Given the description of an element on the screen output the (x, y) to click on. 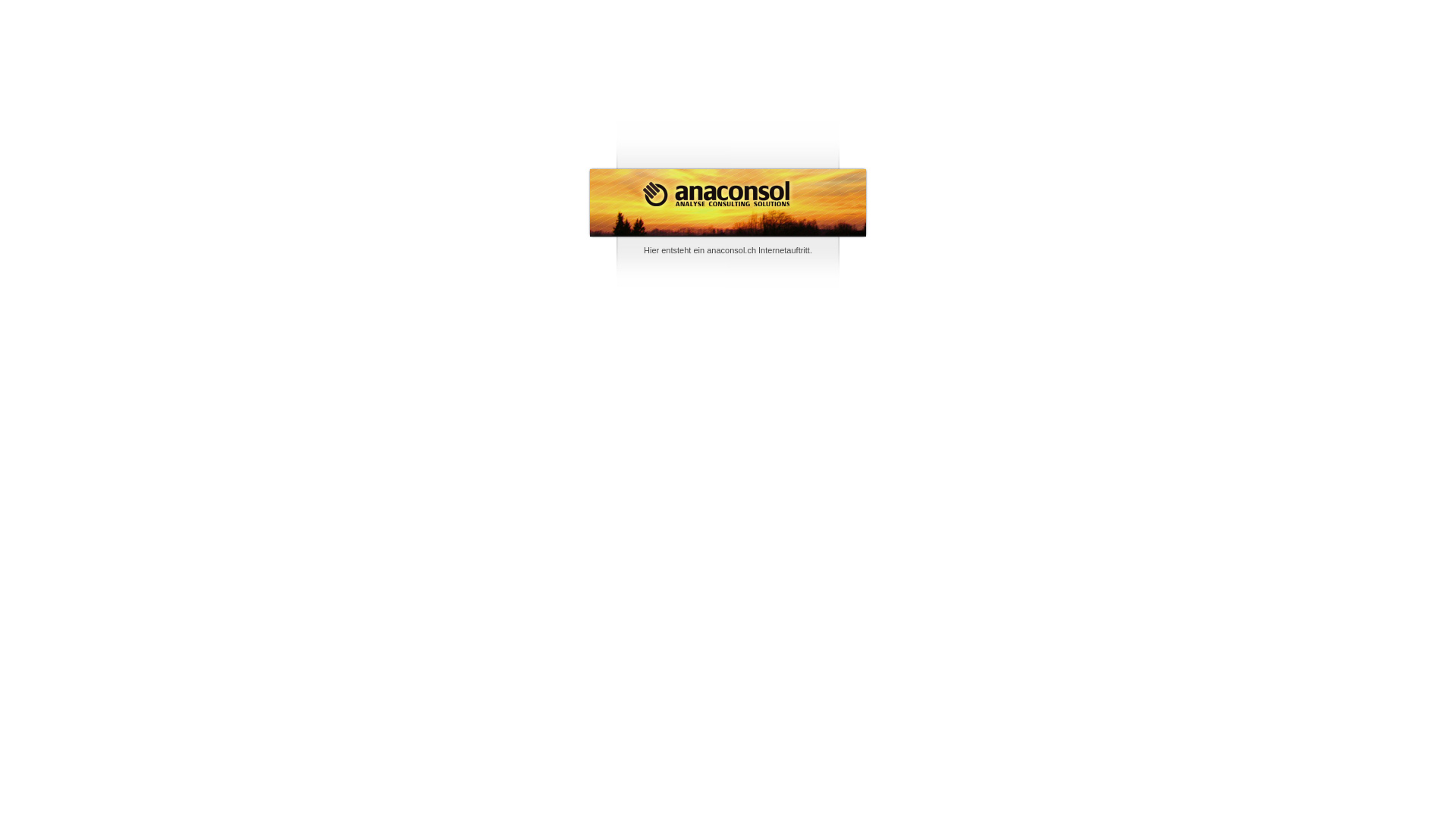
anaconsol.ch Element type: text (731, 249)
